Given the description of an element on the screen output the (x, y) to click on. 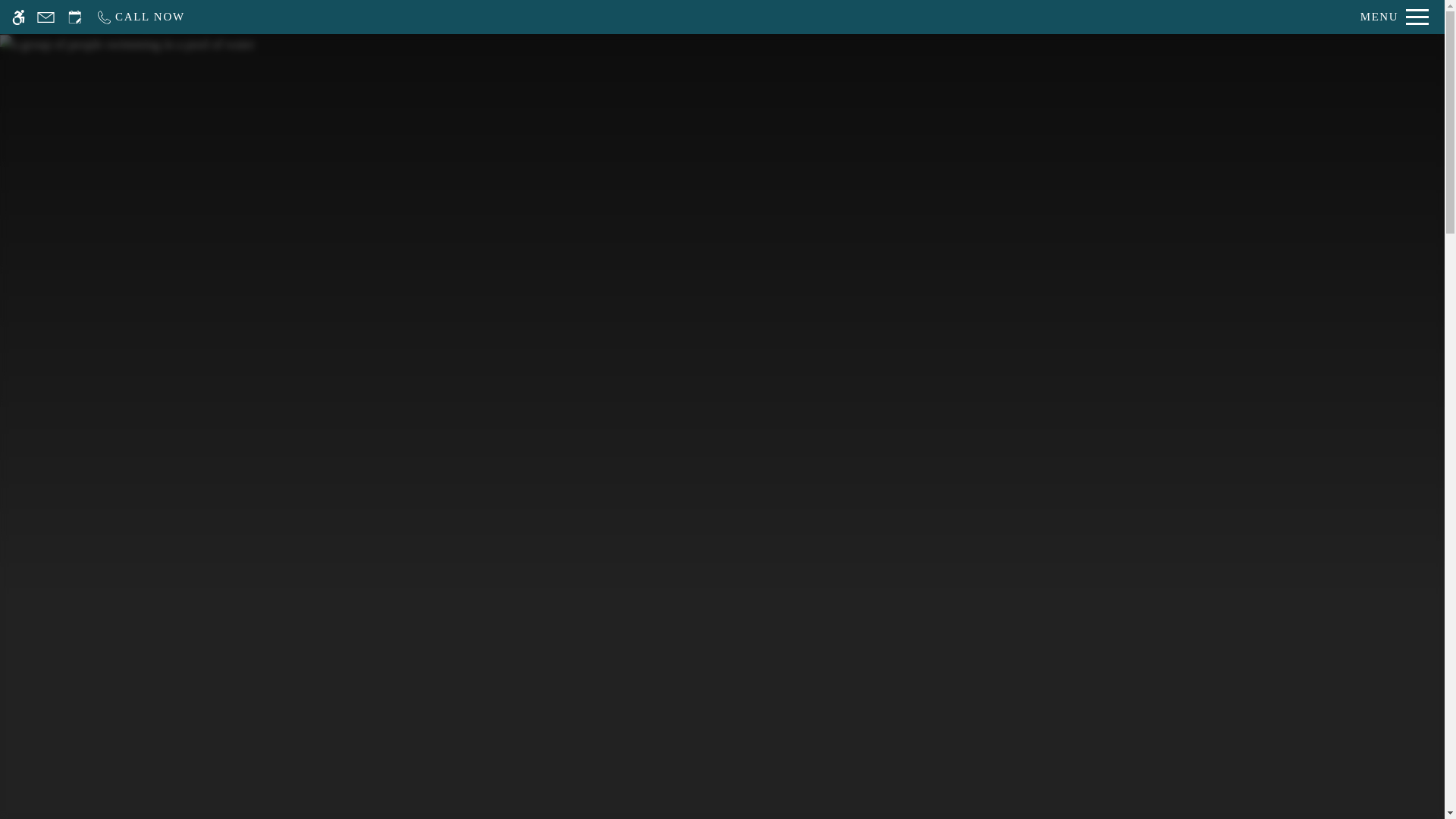
Open Full Menu (1394, 17)
Contact page (45, 17)
CALL NOW (140, 17)
MENU (1394, 17)
Call now (140, 17)
Accessible screen reader (18, 17)
Request an appointment (74, 17)
